Given the description of an element on the screen output the (x, y) to click on. 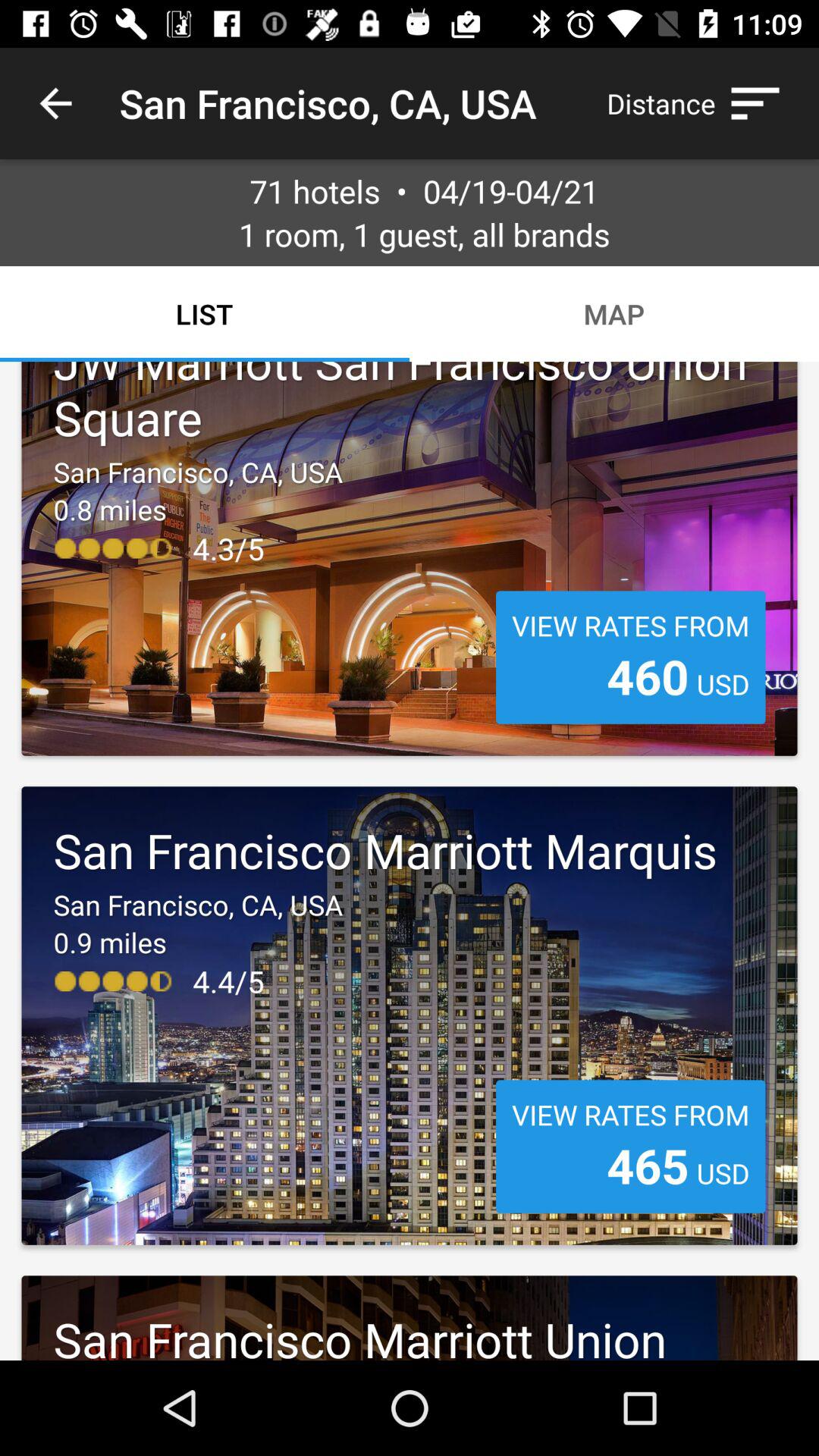
click the item next to usd (647, 1165)
